Given the description of an element on the screen output the (x, y) to click on. 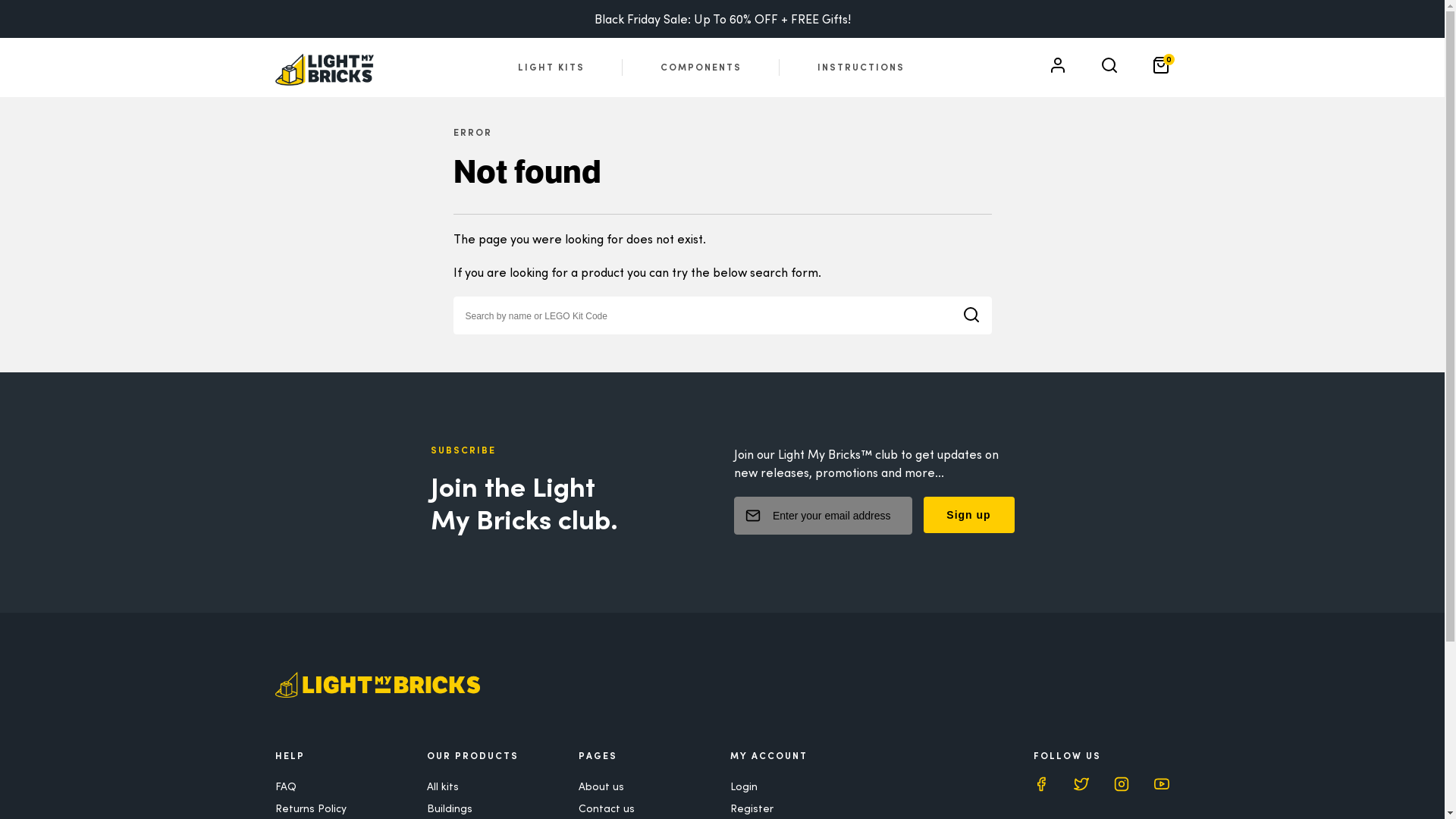
Light My Bricks AU YouTube Element type: hover (1161, 786)
FAQ Element type: text (284, 786)
Buildings Element type: text (448, 808)
Sign up Element type: text (968, 514)
INSTRUCTIONS Element type: text (860, 67)
COMPONENTS Element type: text (699, 67)
LIGHT KITS Element type: text (550, 67)
My account Element type: hover (1057, 69)
Contact us Element type: text (605, 808)
Your cart Element type: hover (1160, 69)
Returns Policy Element type: text (309, 808)
Light My Bricks AU Facebook Element type: hover (1040, 786)
All kits Element type: text (442, 786)
Register Element type: text (750, 808)
Light My Bricks AU Twitter Element type: hover (1080, 786)
Light My Bricks AU Instagram Element type: hover (1121, 786)
About us Element type: text (600, 786)
Login Element type: text (742, 786)
